Given the description of an element on the screen output the (x, y) to click on. 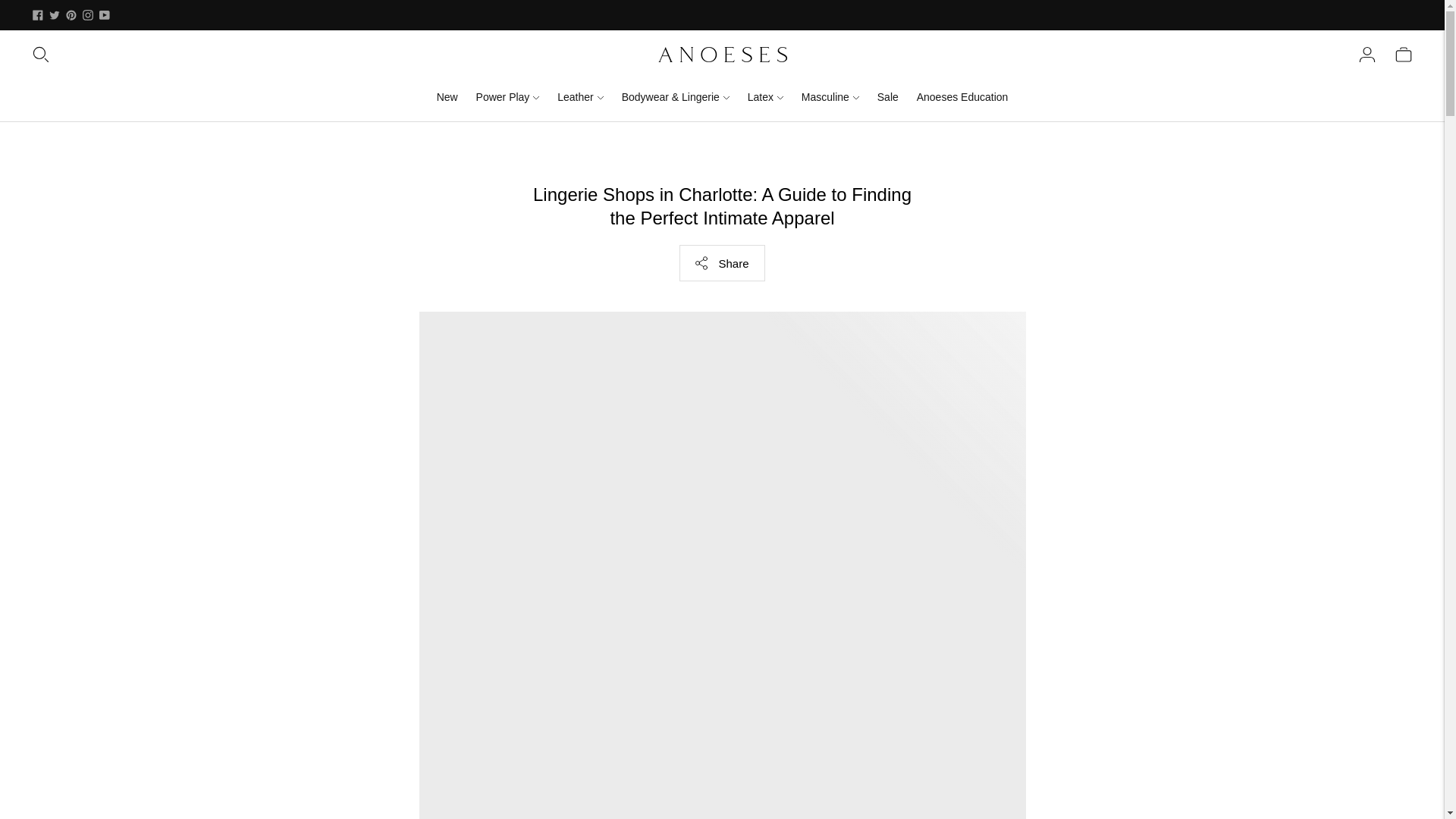
ANOESES on Facebook (37, 14)
ANOESES on Instagram (87, 14)
ANOESES on YouTube (104, 14)
ANOESES on Pinterest (71, 14)
ANOESES on Twitter (54, 14)
